Given the description of an element on the screen output the (x, y) to click on. 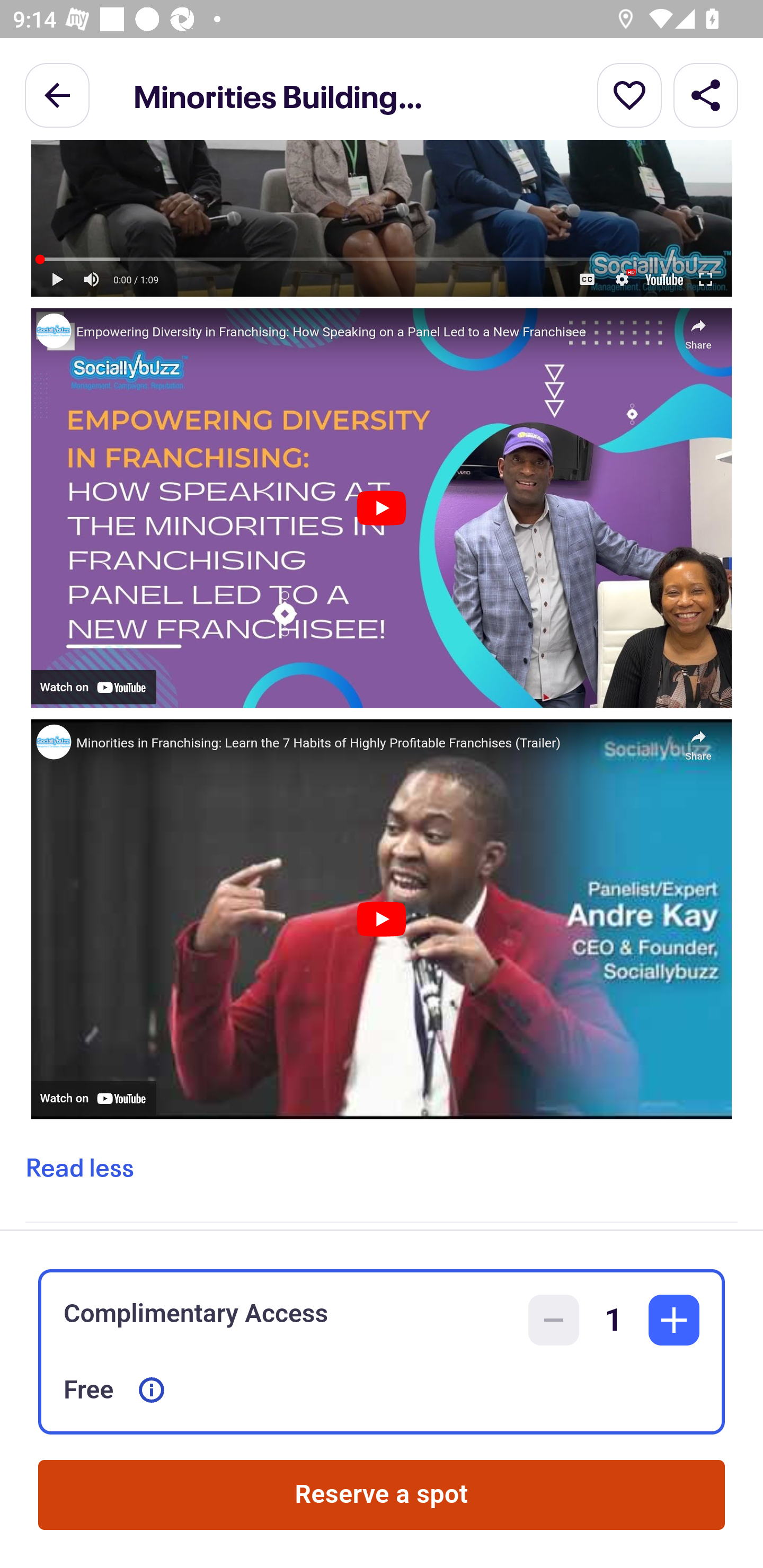
Back (57, 94)
More (629, 94)
Share (705, 94)
Play (56, 278)
Mute (91, 278)
0:00 / 1:09 (135, 278)
Subtitles/closed captions (586, 278)
Settings (621, 278)
Watch on YouTube (663, 278)
Full screen (704, 278)
Share (697, 329)
Photo image of Sociallybuzz, Inc (52, 330)
Play (380, 507)
Watch on YouTube (93, 686)
Share (697, 740)
Photo image of Sociallybuzz, Inc (52, 741)
Play (380, 918)
Watch on YouTube (93, 1097)
Read less (79, 1166)
Decrease (553, 1320)
Increase (673, 1320)
Show more information (151, 1389)
Reserve a spot (381, 1494)
